Given the description of an element on the screen output the (x, y) to click on. 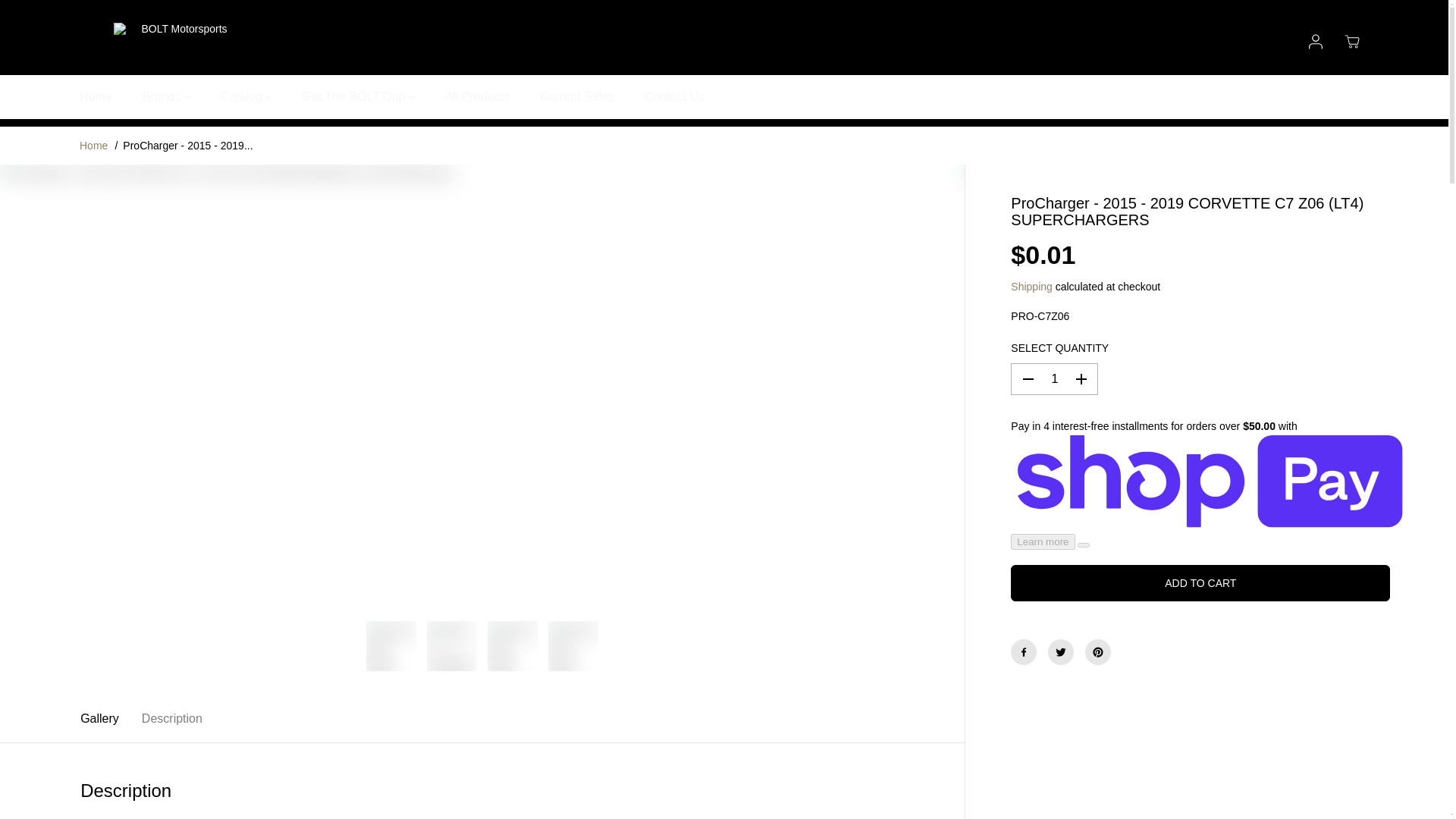
Cart (1351, 40)
1 (1053, 378)
Facebook (1023, 652)
Twitter (1061, 652)
SKIP TO CONTENT (60, 18)
Pinterest (1097, 652)
Log in (1315, 40)
Home (93, 144)
